Given the description of an element on the screen output the (x, y) to click on. 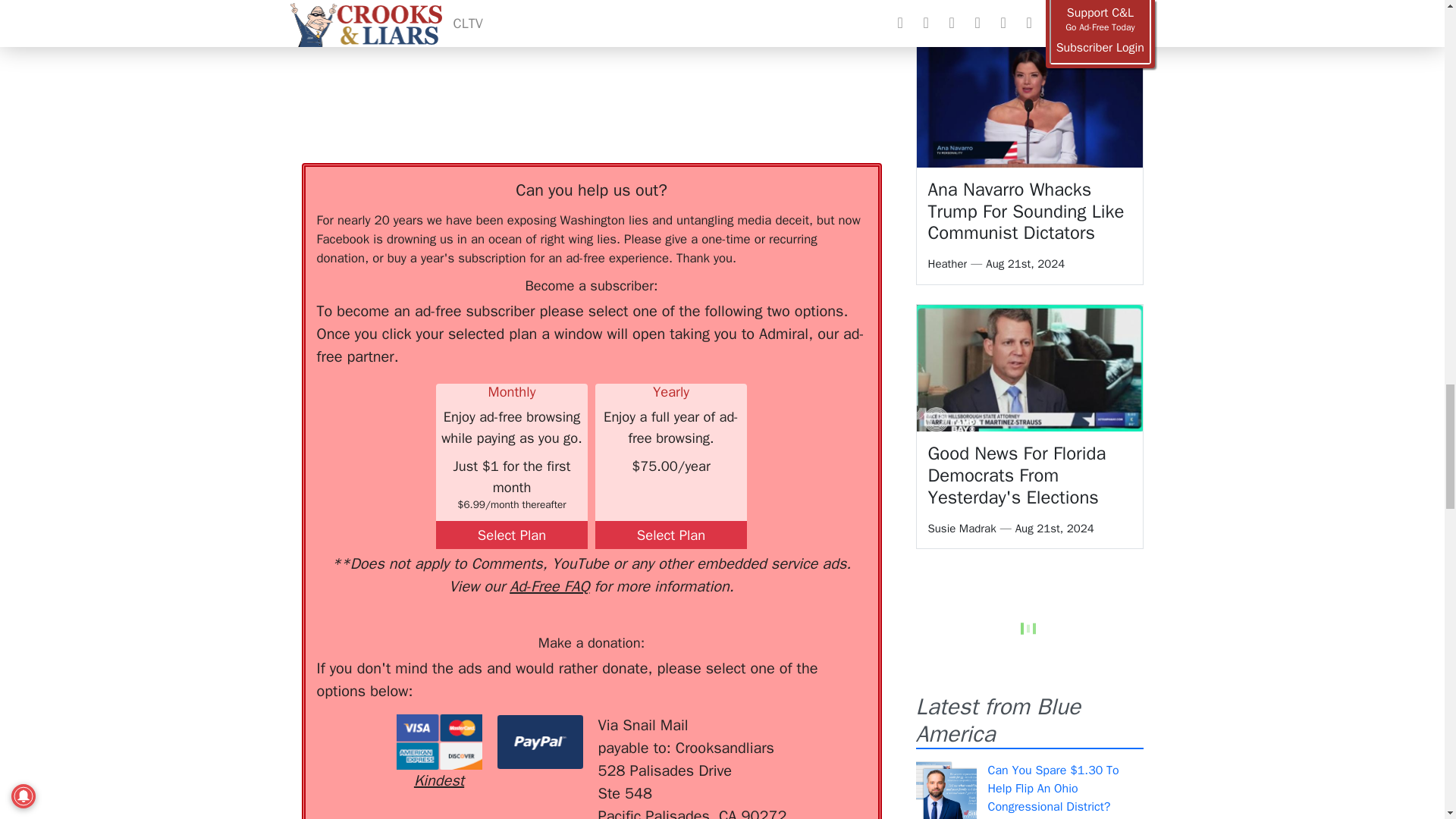
Donate via PayPal (540, 741)
Kindest (438, 753)
Ad-Free FAQ (549, 586)
Donate via PayPal (540, 741)
Donate via Kindest (438, 753)
